Given the description of an element on the screen output the (x, y) to click on. 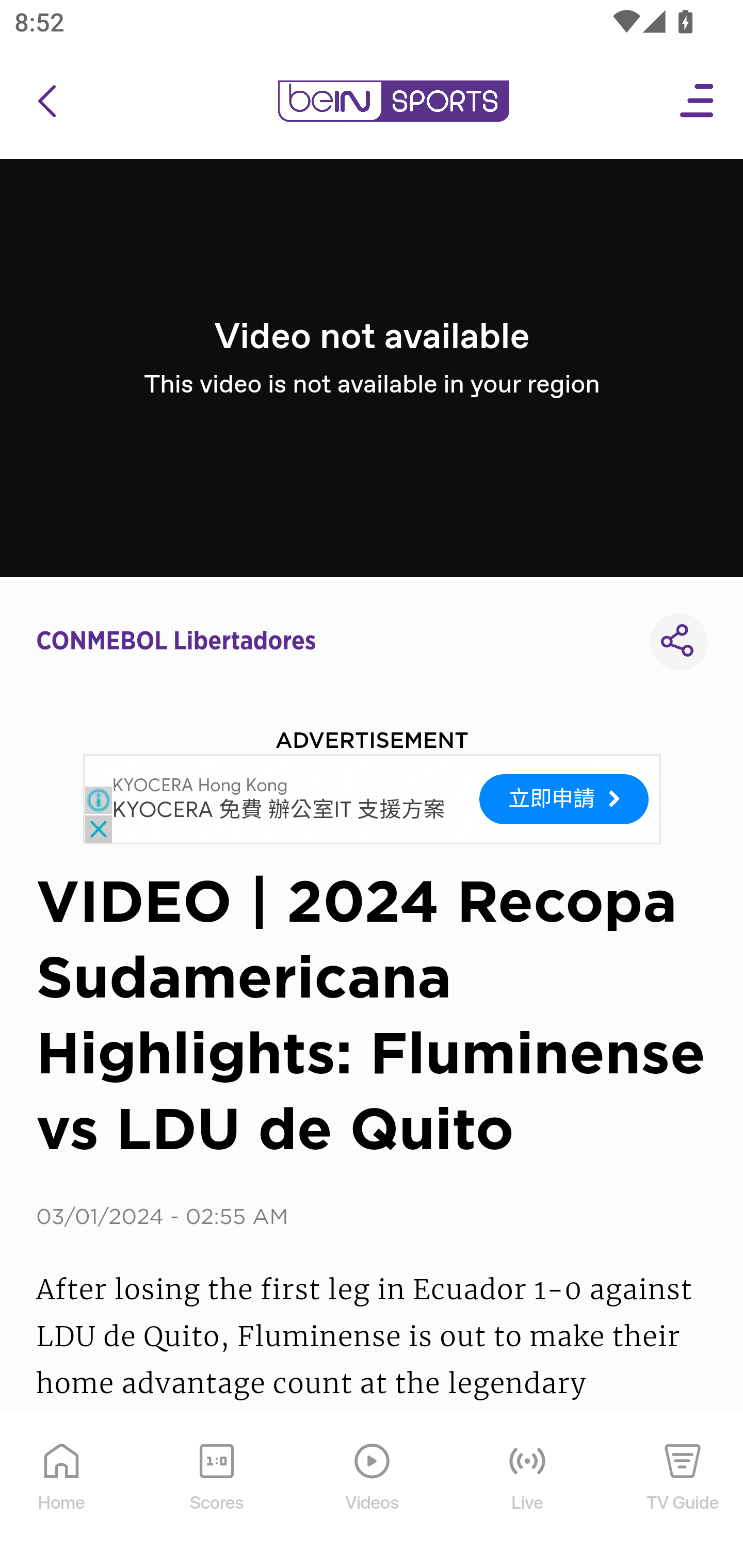
en-us?platform=mobile_android bein logo (392, 101)
icon back (46, 101)
Open Menu Icon (697, 101)
立即申請 (564, 798)
KYOCERA Hong Kong (200, 786)
KYOCERA 免費 辦公室IT 支援方案 (278, 810)
Home Home Icon Home (61, 1491)
Scores Scores Icon Scores (216, 1491)
Videos Videos Icon Videos (372, 1491)
TV Guide TV Guide Icon TV Guide (682, 1491)
